Given the description of an element on the screen output the (x, y) to click on. 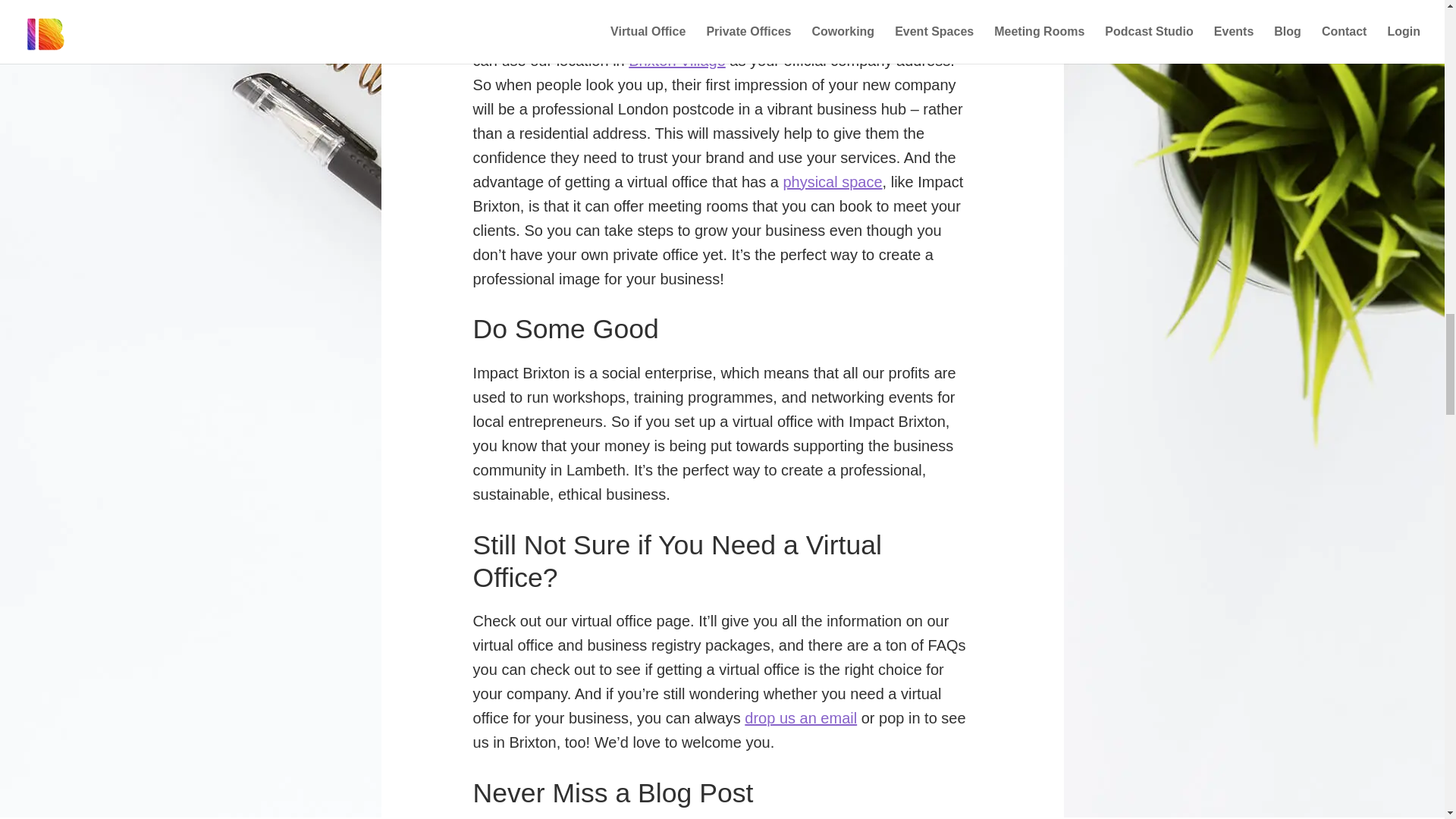
physical space (832, 181)
Brixton Village (676, 60)
drop us an email (800, 718)
